Given the description of an element on the screen output the (x, y) to click on. 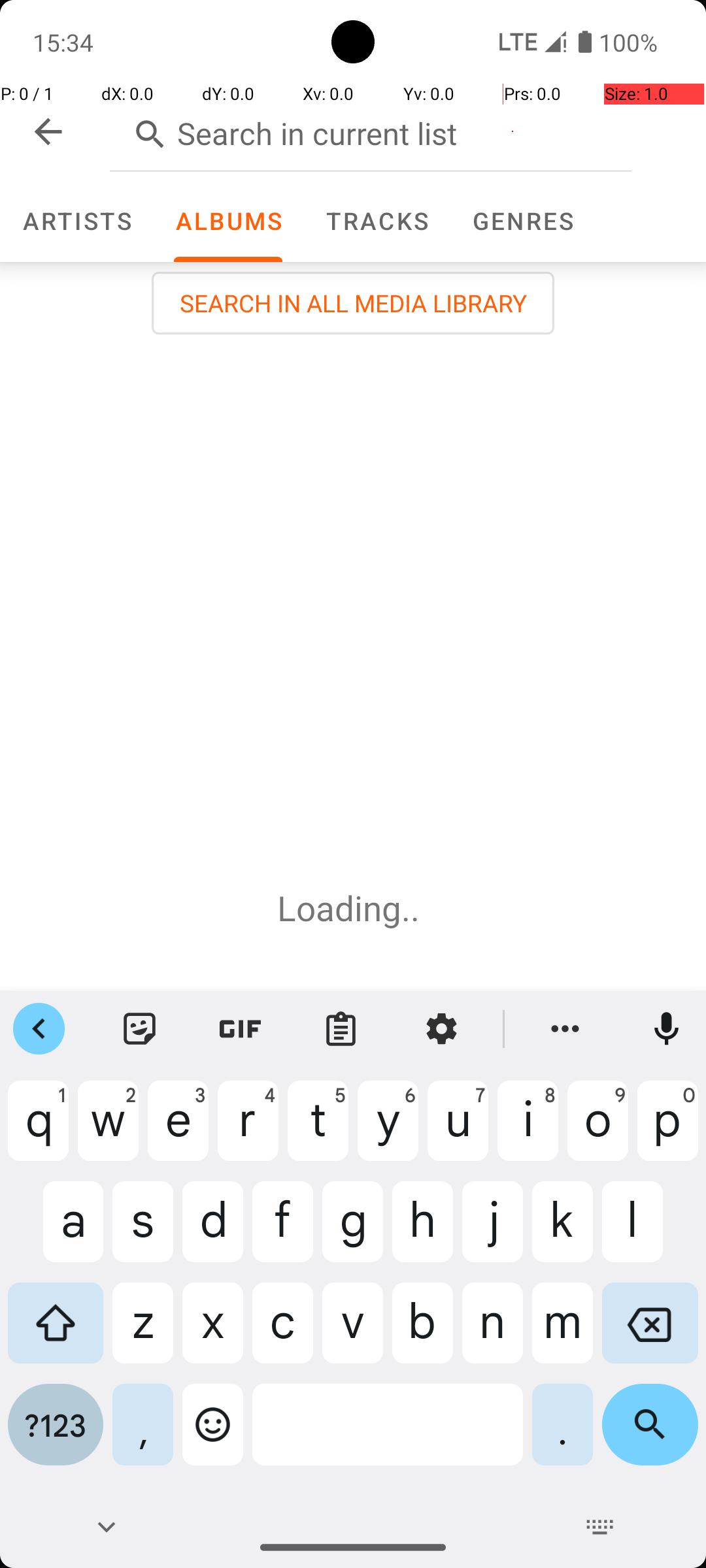
SEARCH IN ALL MEDIA LIBRARY Element type: android.widget.Button (352, 302)
.. Element type: android.widget.TextView (414, 907)
   Search in current list Element type: android.widget.AutoCompleteTextView (370, 130)
